Given the description of an element on the screen output the (x, y) to click on. 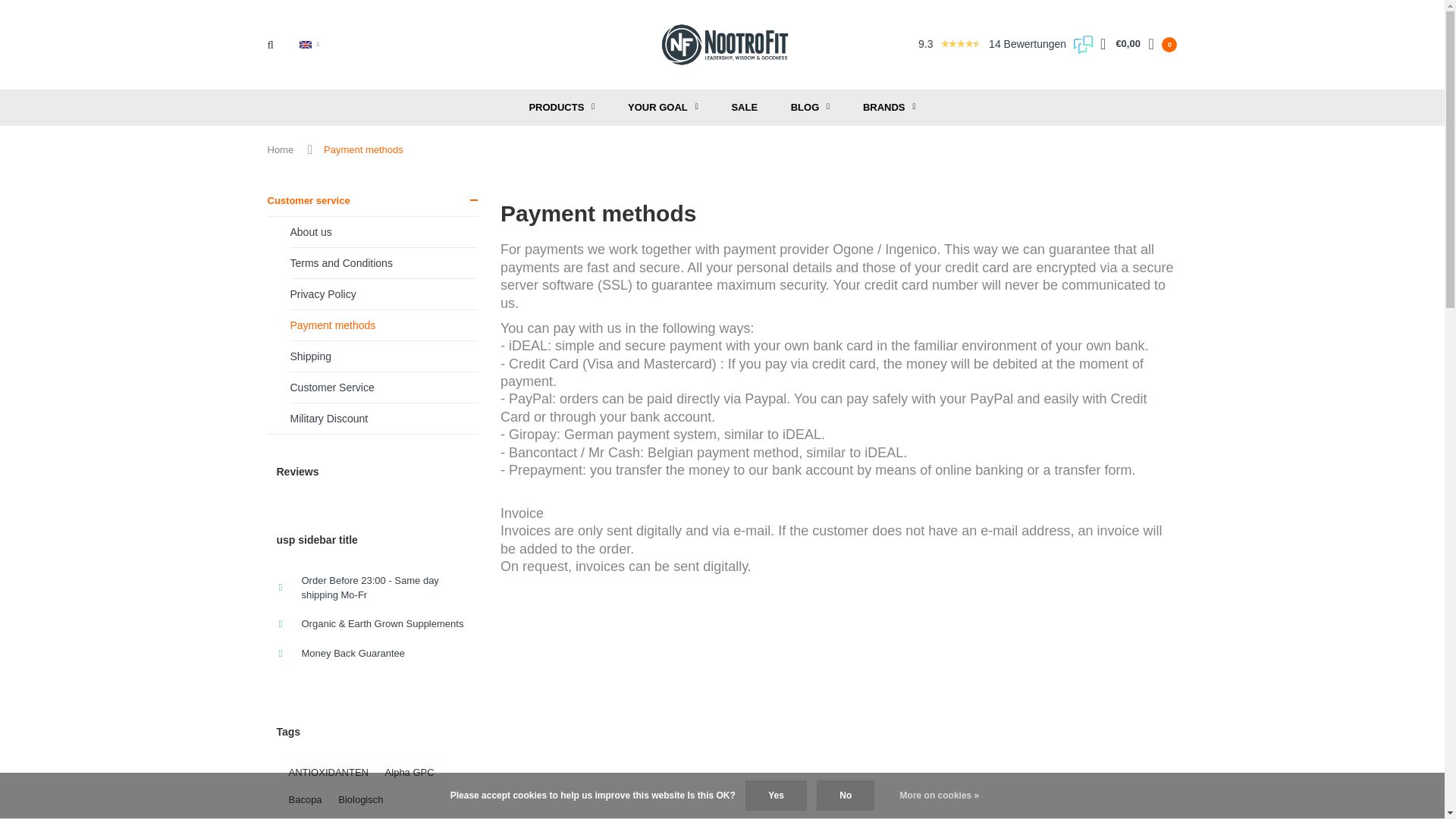
Terms and Conditions (383, 263)
Privacy Policy (383, 294)
Home (280, 150)
Shipping (383, 356)
Payment methods (383, 325)
Military Discount (383, 418)
Customer Service (383, 387)
About us (383, 232)
